Given the description of an element on the screen output the (x, y) to click on. 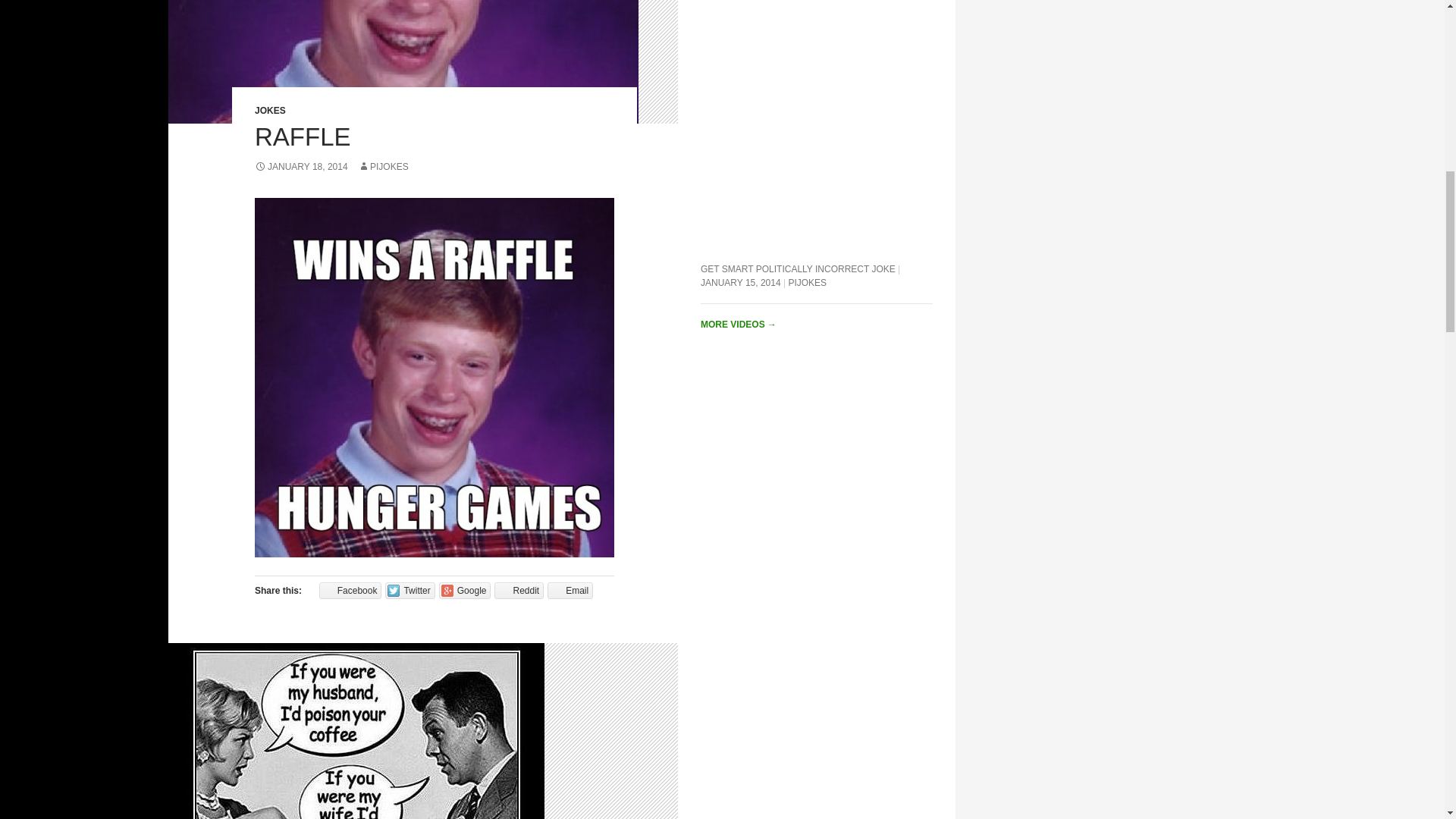
Click to share on Reddit (519, 590)
Email (569, 590)
Facebook (349, 590)
Click to share on Twitter (409, 590)
JOKES (269, 110)
View all posts in Jokes (269, 110)
JANUARY 18, 2014 (300, 166)
Reddit (519, 590)
Twitter (409, 590)
Share on Facebook (349, 590)
